Given the description of an element on the screen output the (x, y) to click on. 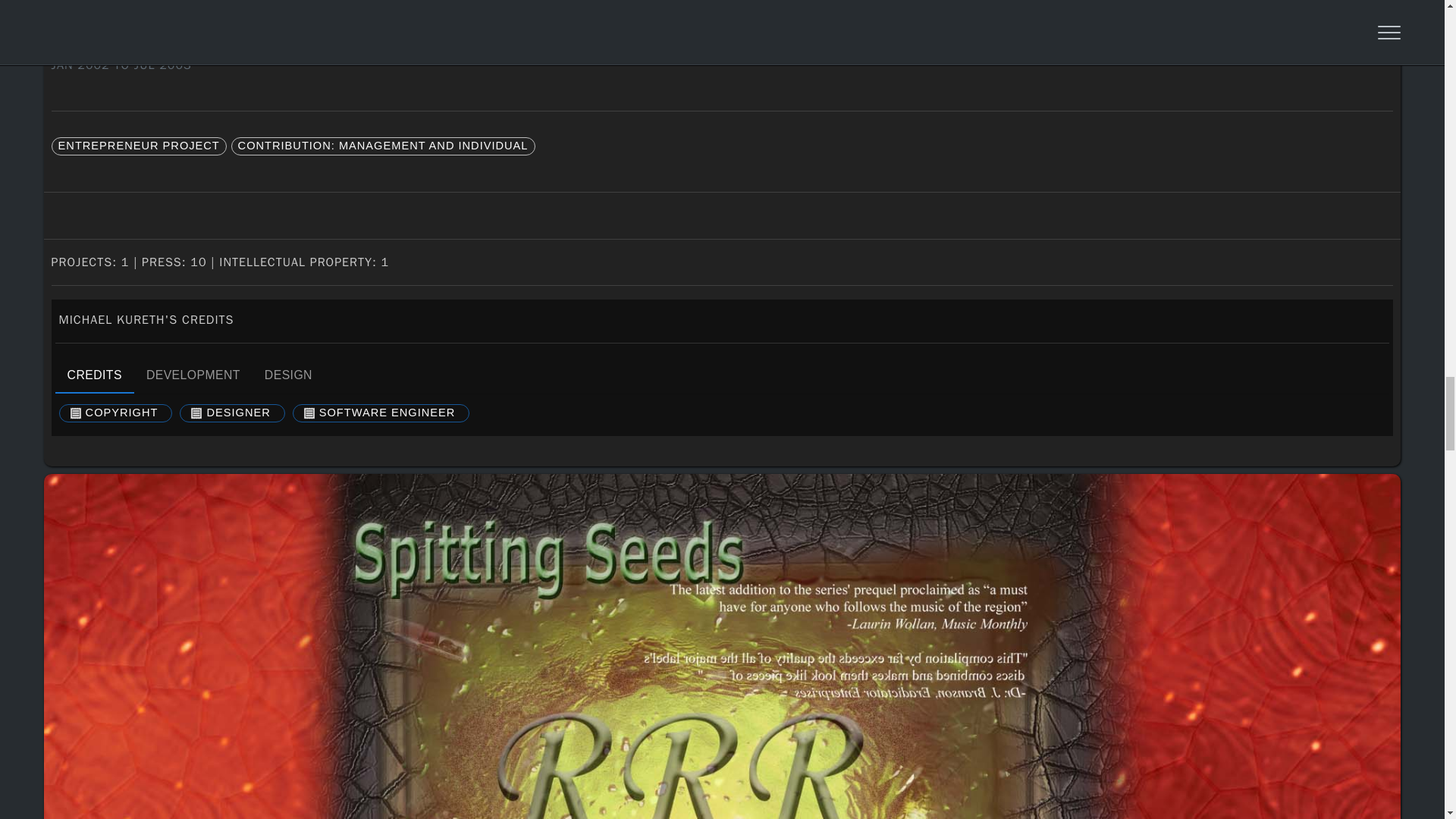
CREDITS (94, 375)
DESIGN (287, 375)
DEVELOPMENT (192, 375)
